Given the description of an element on the screen output the (x, y) to click on. 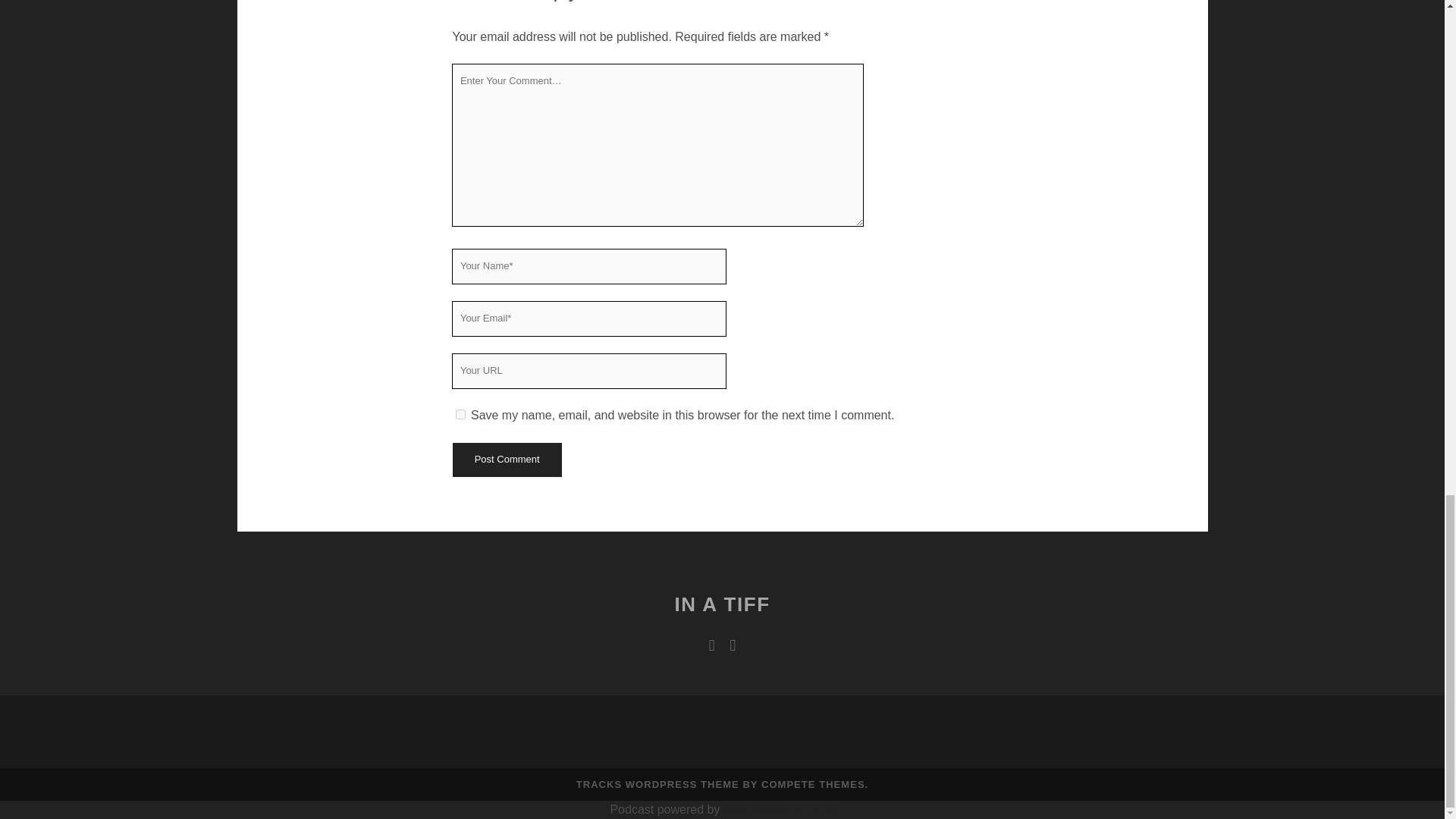
Post Comment (505, 459)
podPress, a plugin for podcasting with WordPress (778, 809)
yes (459, 414)
Post Comment (505, 459)
TRACKS WORDPRESS THEME (657, 784)
IN A TIFF (722, 603)
podPress v8.8.10.13 (778, 809)
